Given the description of an element on the screen output the (x, y) to click on. 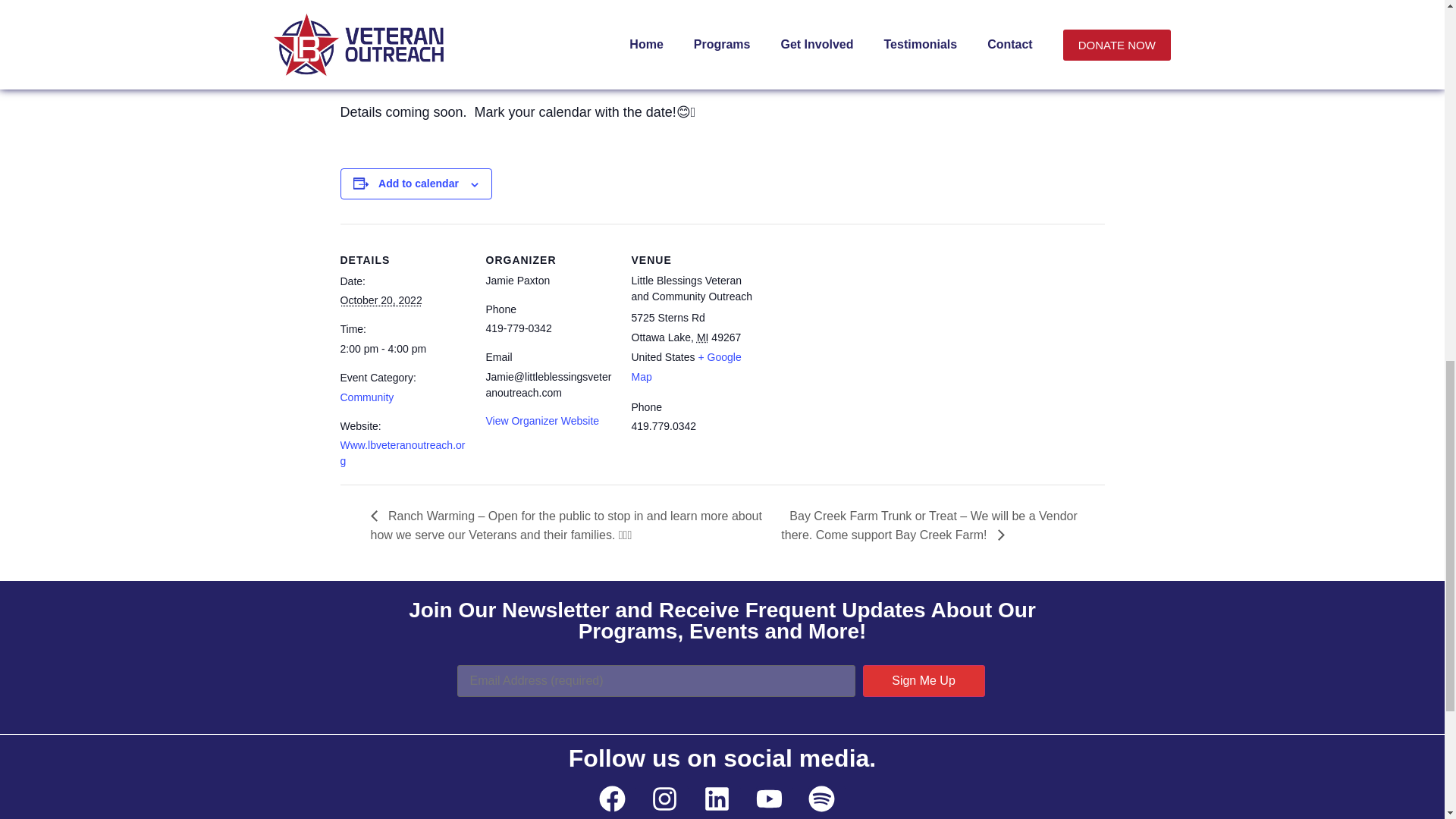
2022-10-20 (380, 300)
Click to view a Google Map (685, 367)
Sign Me Up (924, 680)
2022-10-20 (403, 349)
Michigan (703, 337)
